Given the description of an element on the screen output the (x, y) to click on. 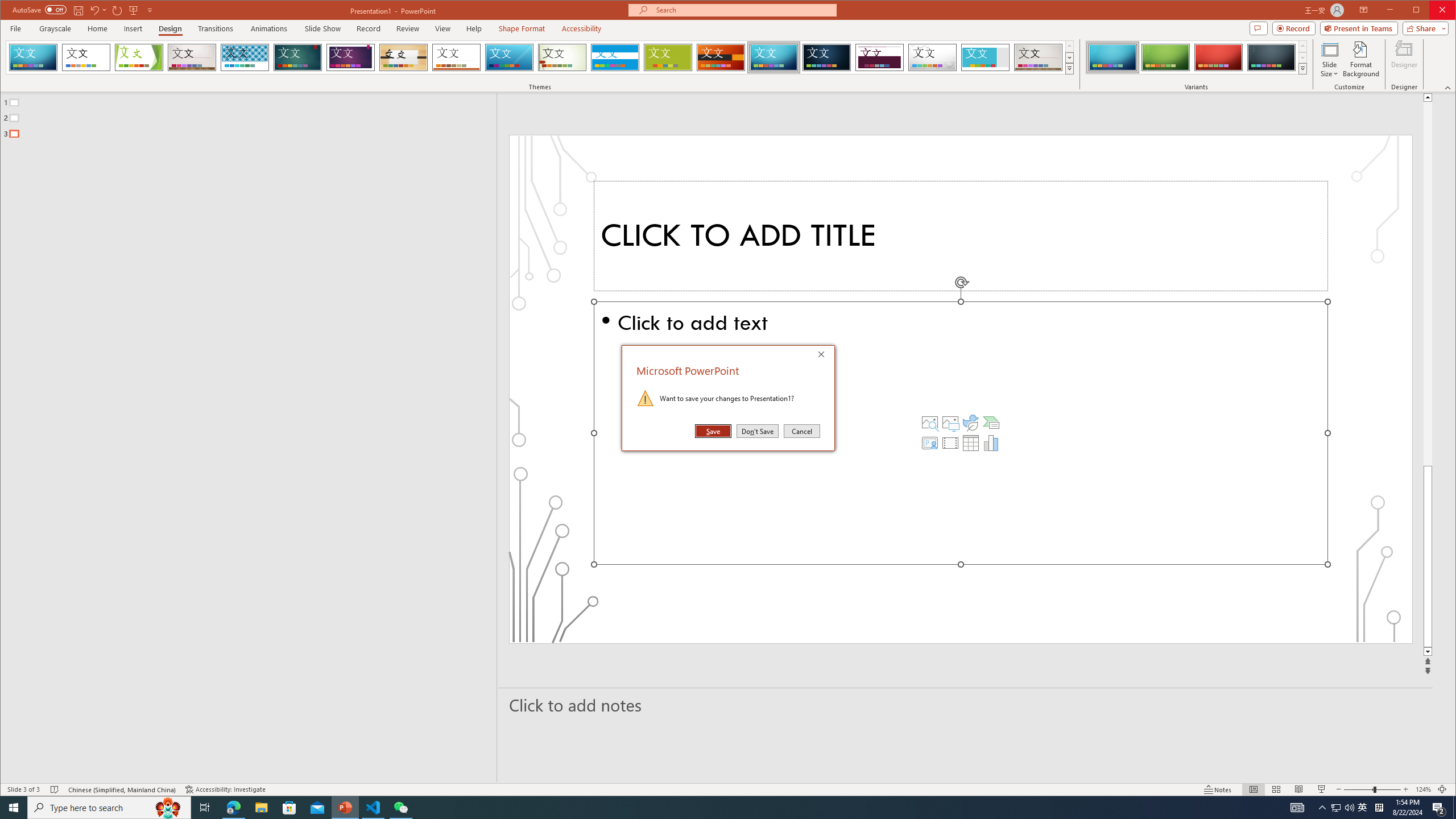
Zoom 124% (1422, 789)
Insert Table (970, 443)
Facet (138, 57)
Designer (1404, 59)
Q2790: 100% (1349, 807)
Office Theme (85, 57)
